Given the description of an element on the screen output the (x, y) to click on. 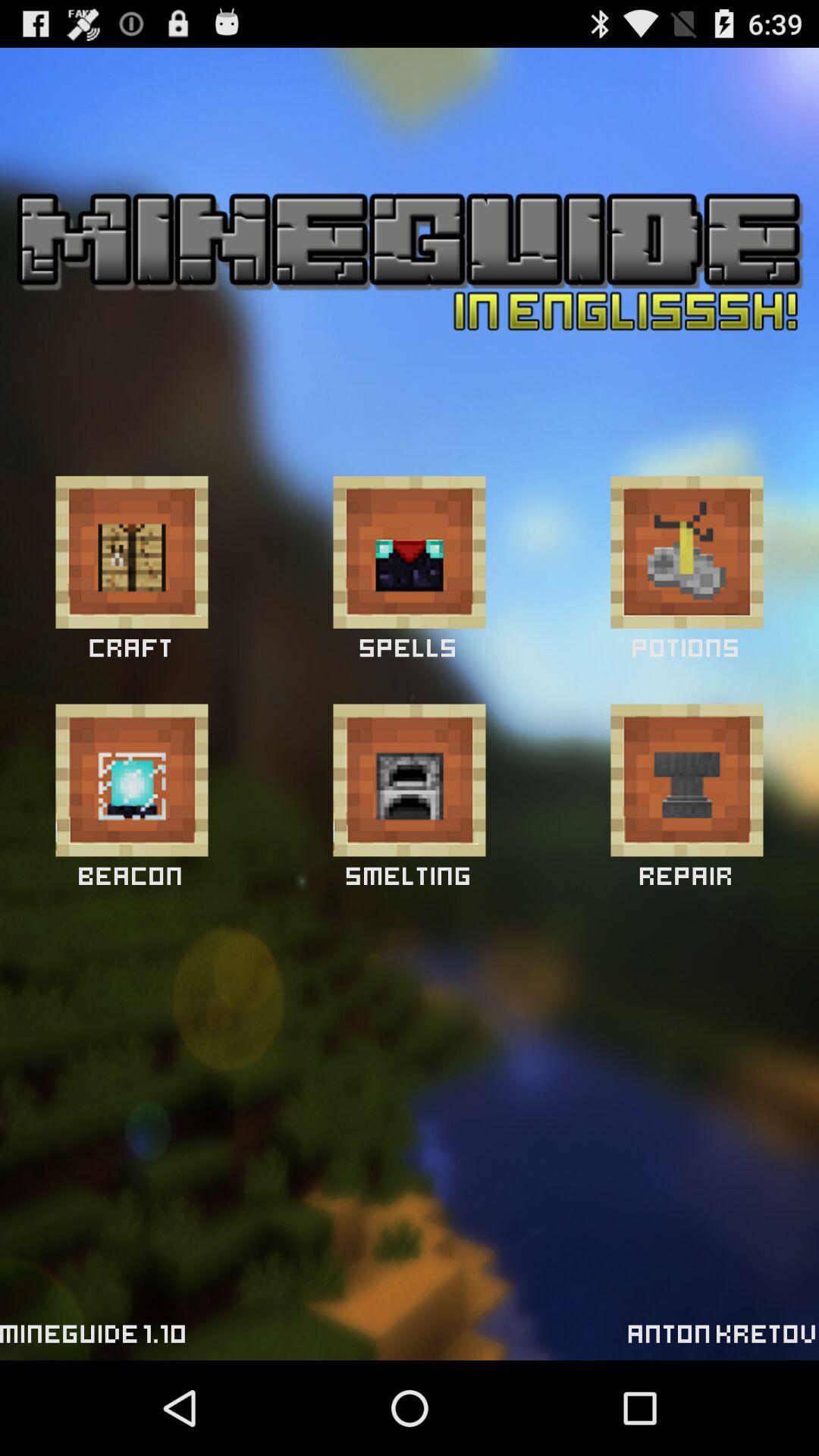
choose icon above the smelting item (409, 780)
